Given the description of an element on the screen output the (x, y) to click on. 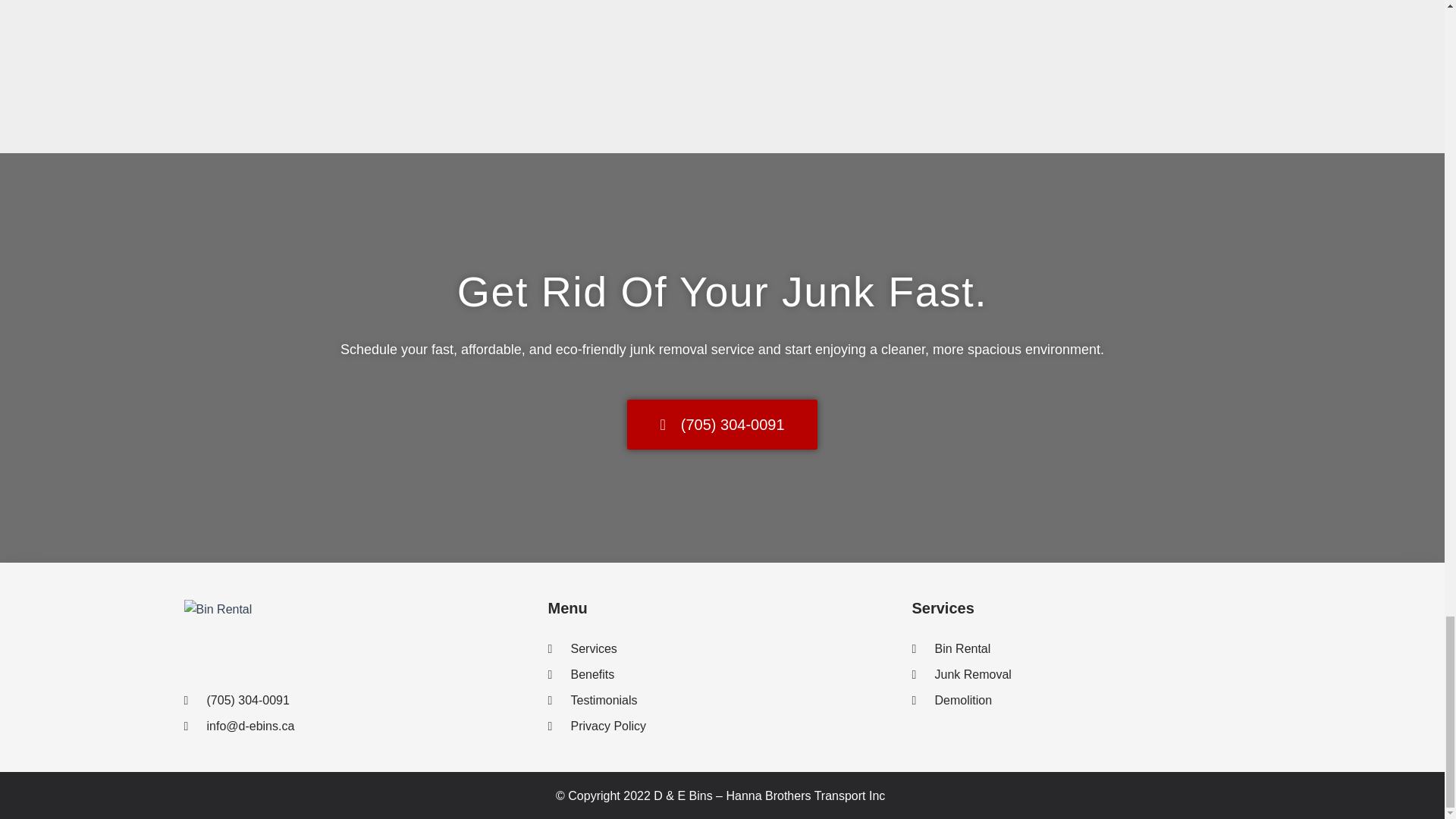
Testimonials (721, 700)
Bin rental (217, 609)
Demolition (1085, 700)
Benefits (721, 674)
Junk Removal (1085, 674)
Bin Rental (1085, 648)
Services (721, 648)
Privacy Policy (721, 726)
